Given the description of an element on the screen output the (x, y) to click on. 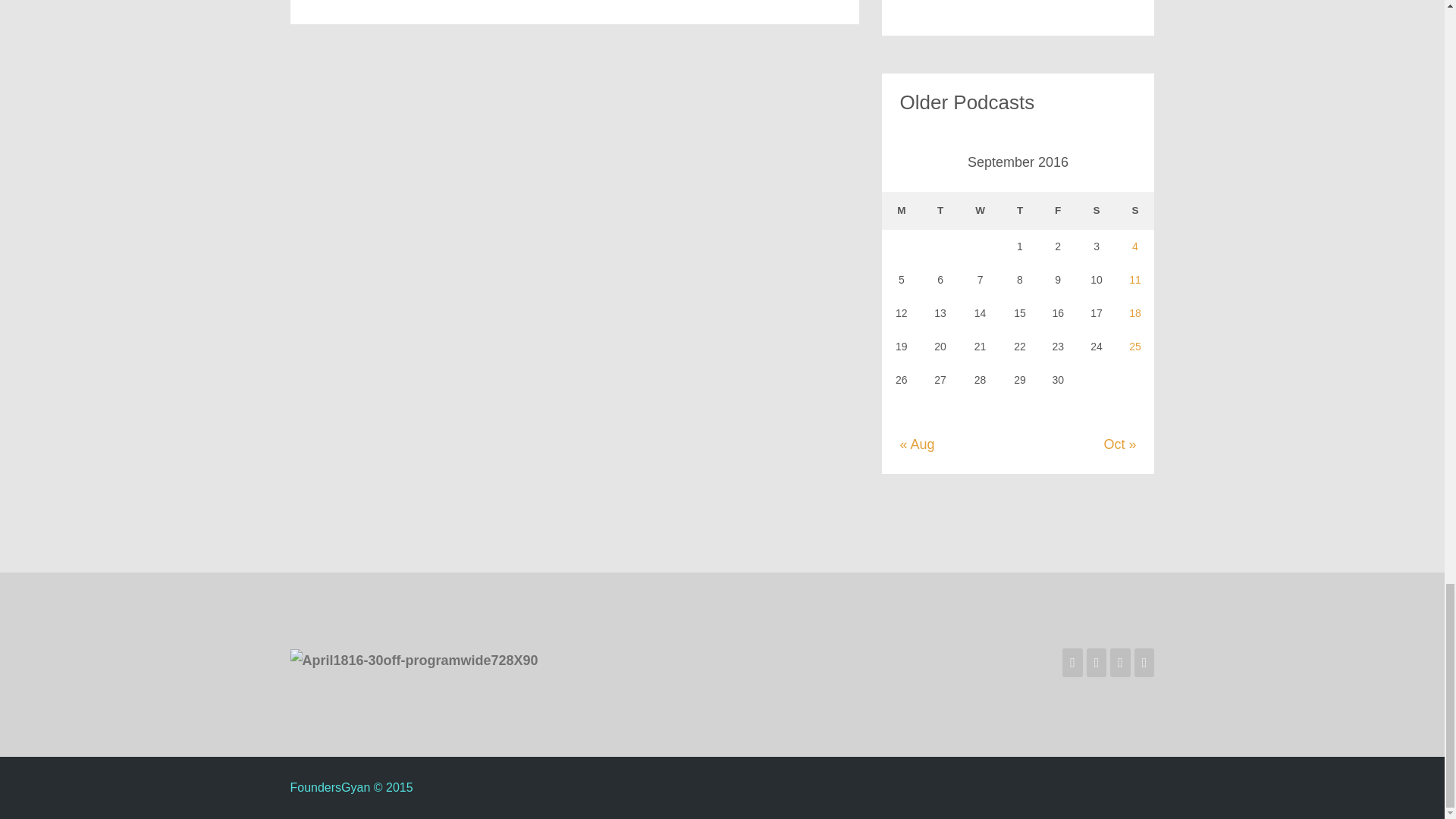
Monday (900, 210)
Saturday (1096, 210)
Tuesday (940, 210)
Sunday (1135, 210)
Thursday (1020, 210)
Friday (1058, 210)
Wednesday (980, 210)
